Given the description of an element on the screen output the (x, y) to click on. 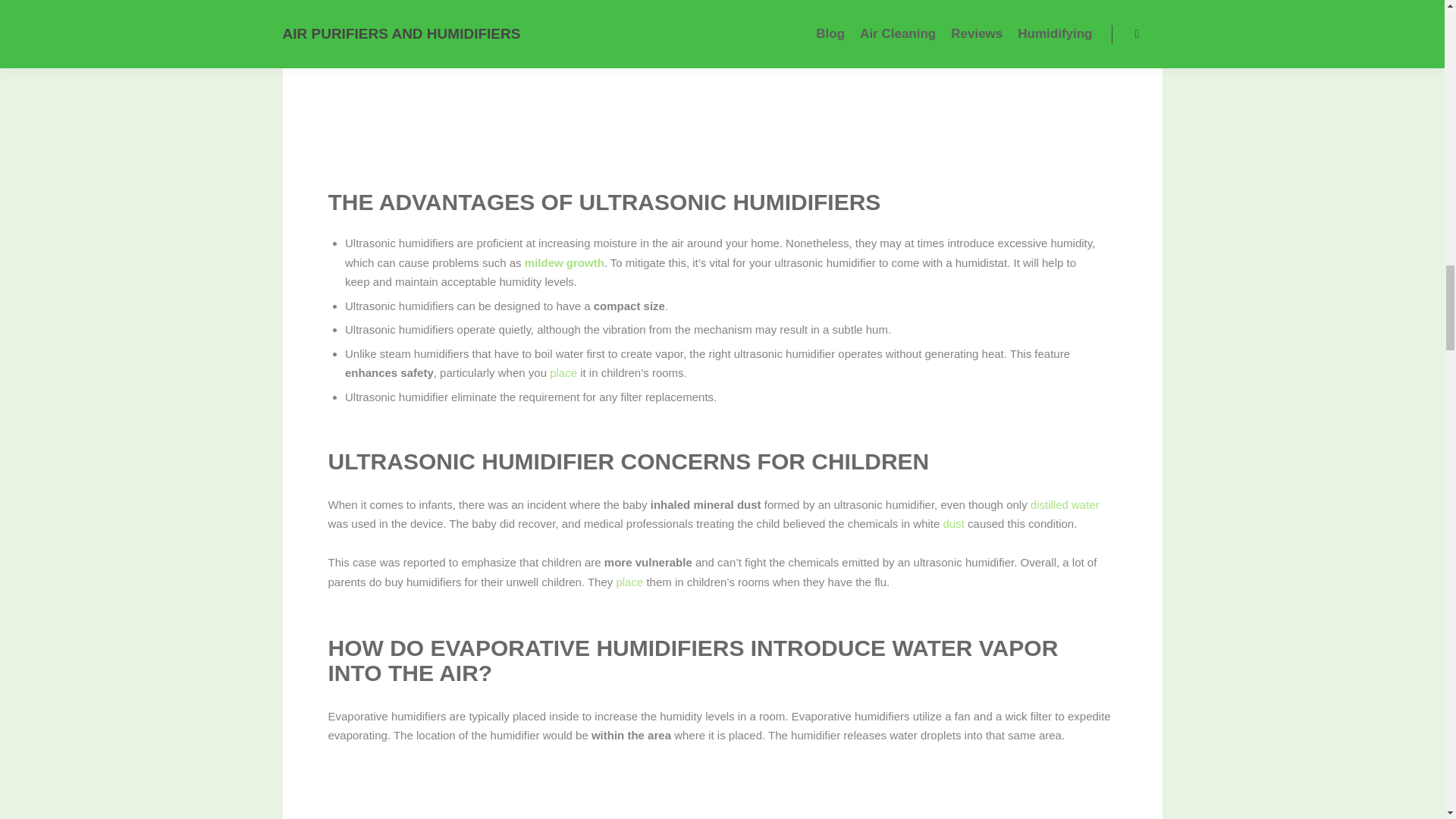
dust (953, 522)
place (629, 581)
place (563, 372)
distilled water (1064, 504)
mildew growth (564, 262)
